Given the description of an element on the screen output the (x, y) to click on. 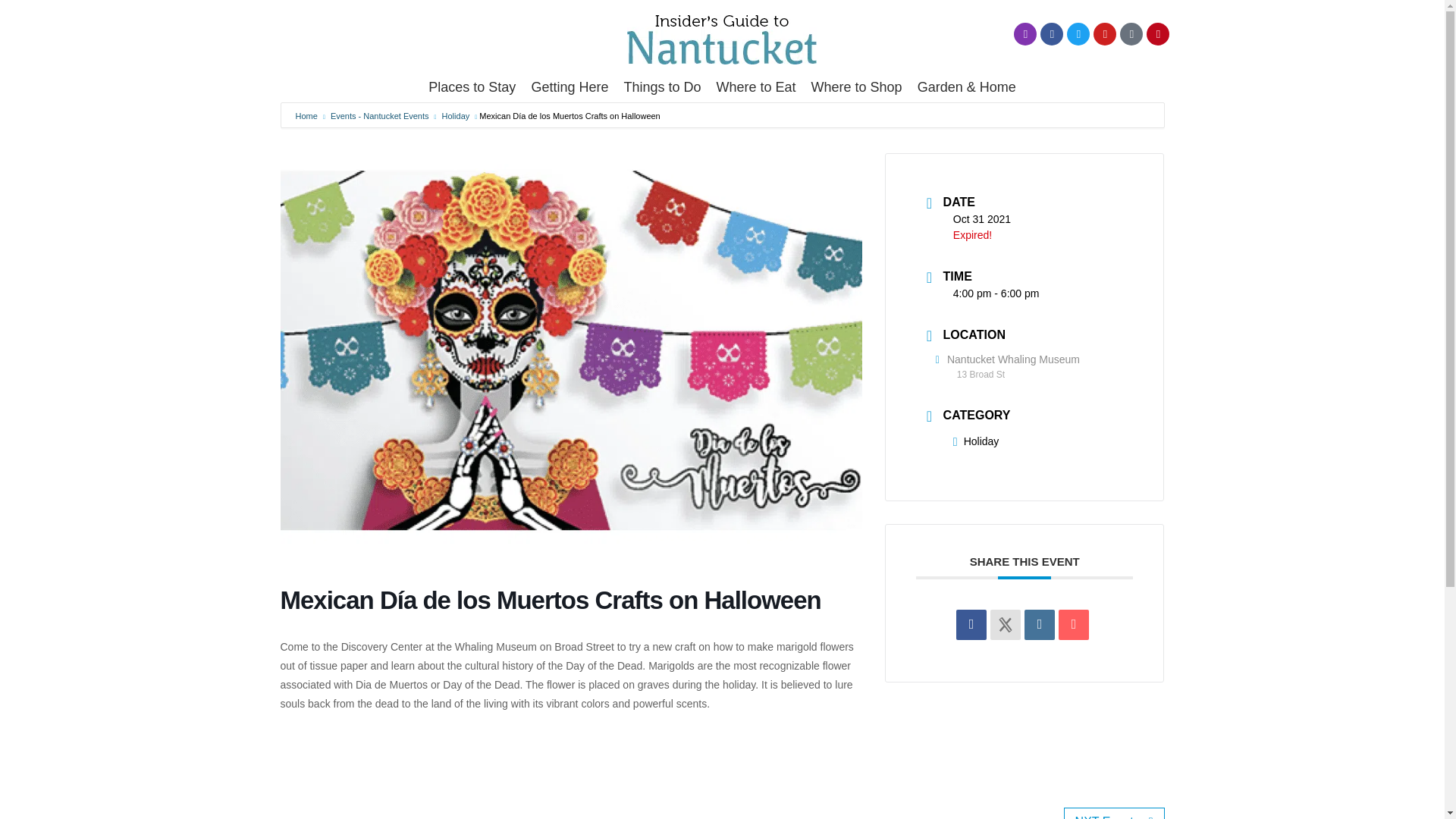
Email (1073, 624)
Linkedin (1039, 624)
Places to Stay (471, 87)
Where to Eat (755, 87)
Things to Do (661, 87)
Share on Facebook (971, 624)
Getting Here (568, 87)
X Social Network (1005, 624)
